Given the description of an element on the screen output the (x, y) to click on. 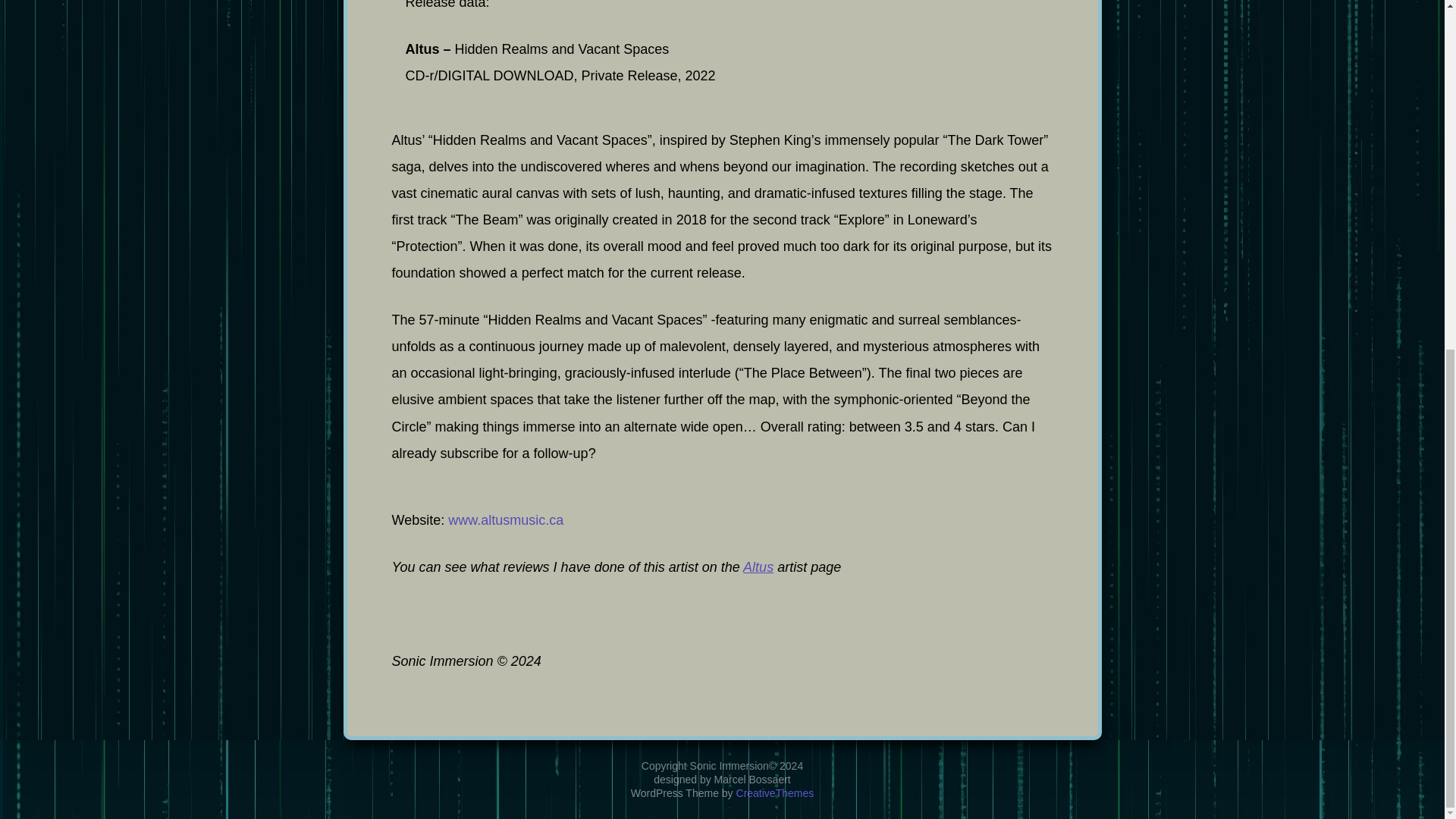
CreativeThemes (774, 188)
Altus (757, 566)
www.altusmusic.ca (505, 519)
